Given the description of an element on the screen output the (x, y) to click on. 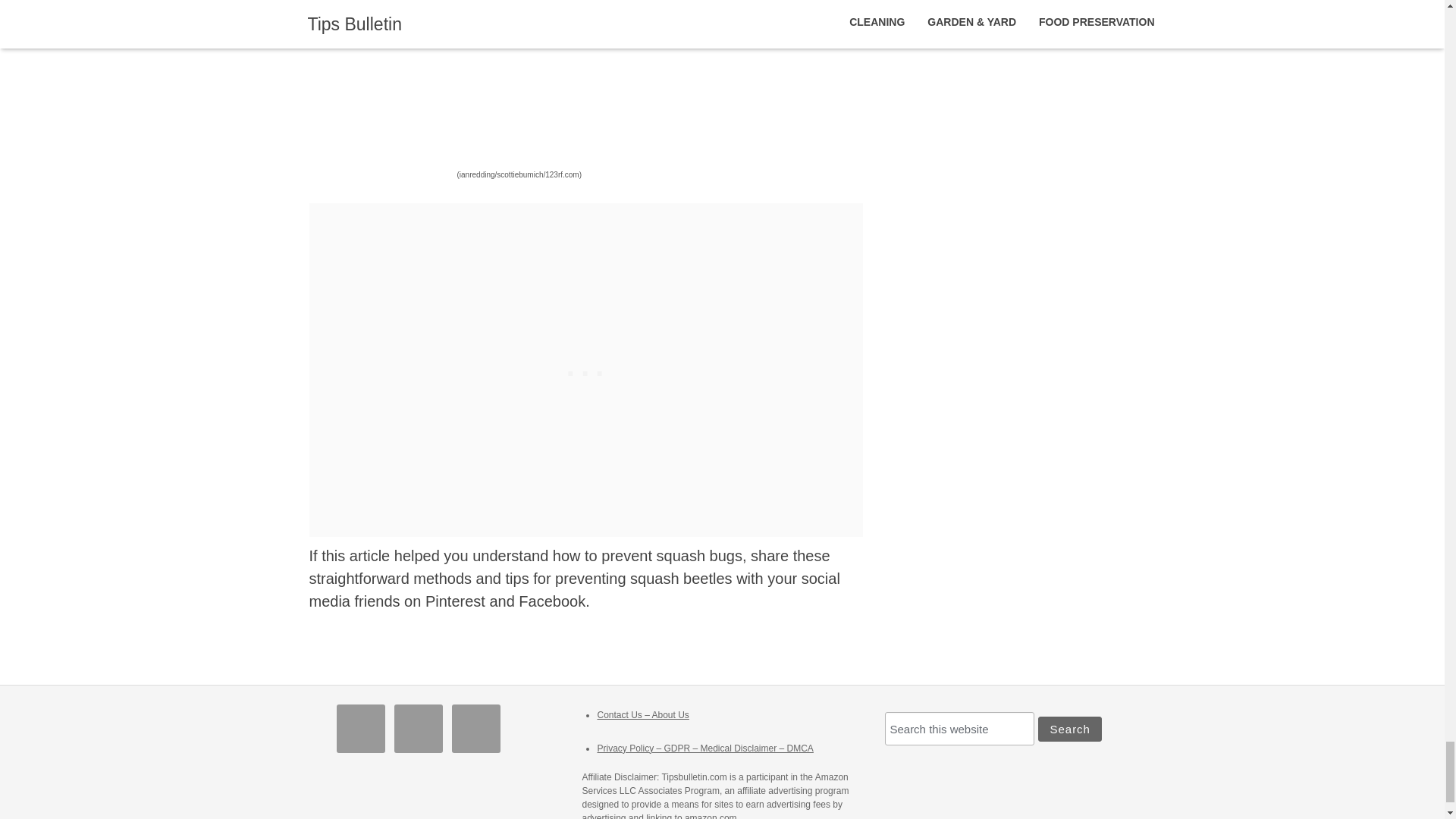
Search (1070, 729)
Search (1070, 729)
